Given the description of an element on the screen output the (x, y) to click on. 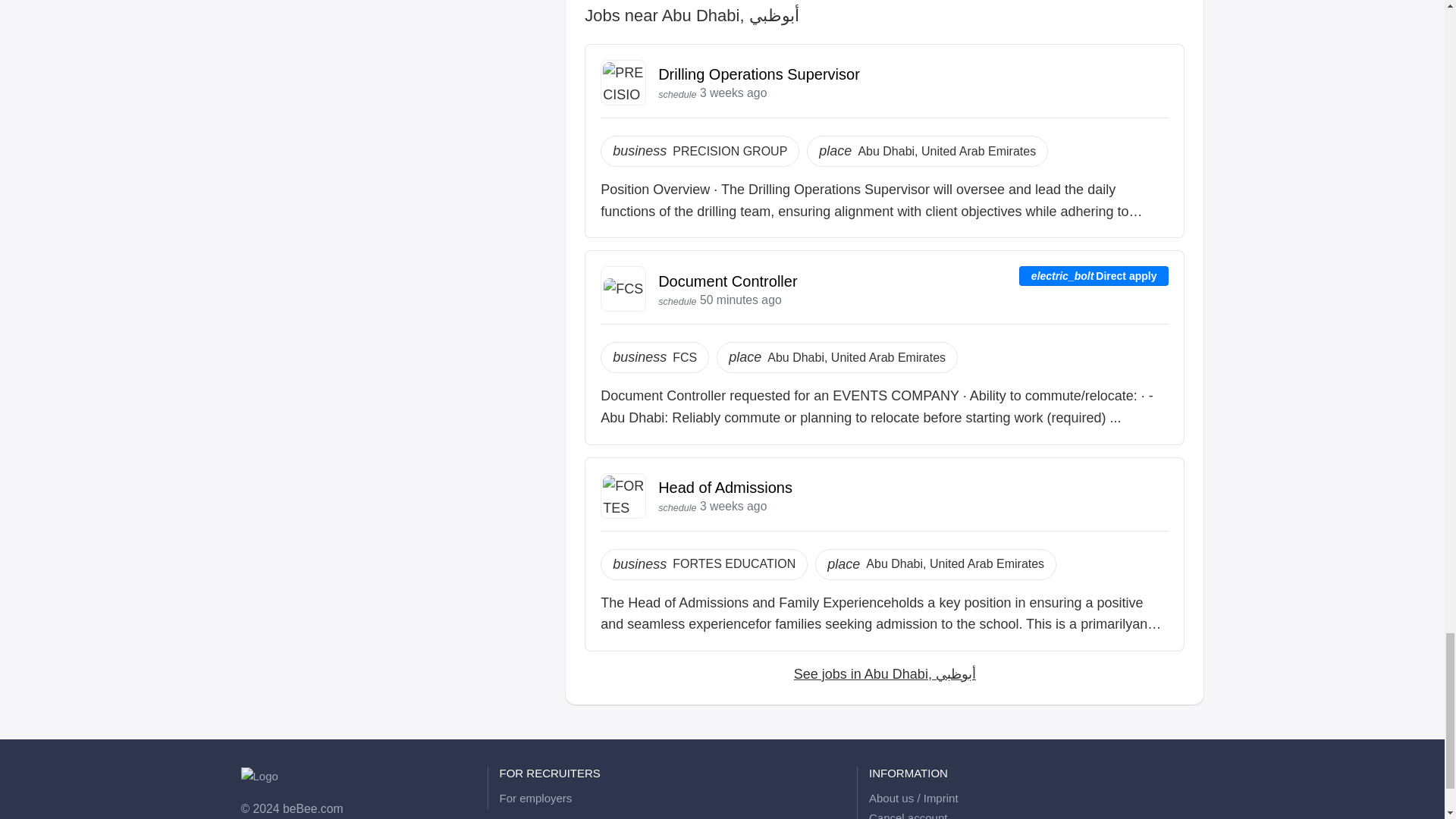
Head of Admissions (725, 487)
Abu Dhabi, United Arab Emirates (855, 357)
Abu Dhabi, United Arab Emirates (954, 564)
Drilling Operations Supervisor (759, 74)
Cancel account (908, 814)
Head of Admissions (725, 487)
Document Controller (727, 280)
Document Controller (727, 280)
Abu Dhabi, United Arab Emirates (946, 151)
FORTES EDUCATION (733, 564)
